Given the description of an element on the screen output the (x, y) to click on. 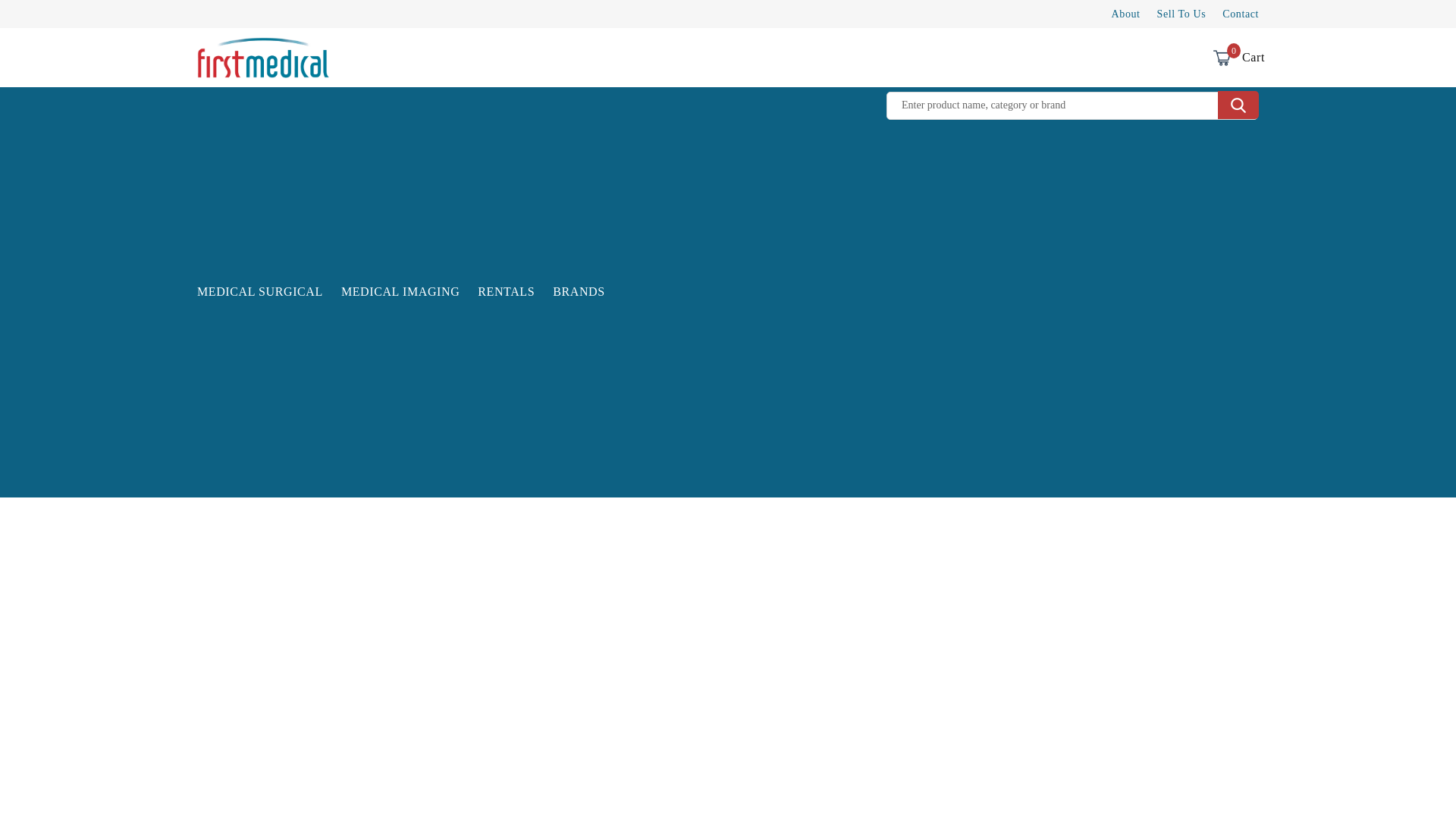
Contact (1220, 57)
Skip to content (1241, 13)
RENTALS (45, 17)
BRANDS (505, 291)
MEDICAL IMAGING (578, 291)
MEDICAL SURGICAL (399, 291)
About (259, 291)
Sell To Us (1126, 13)
